Given the description of an element on the screen output the (x, y) to click on. 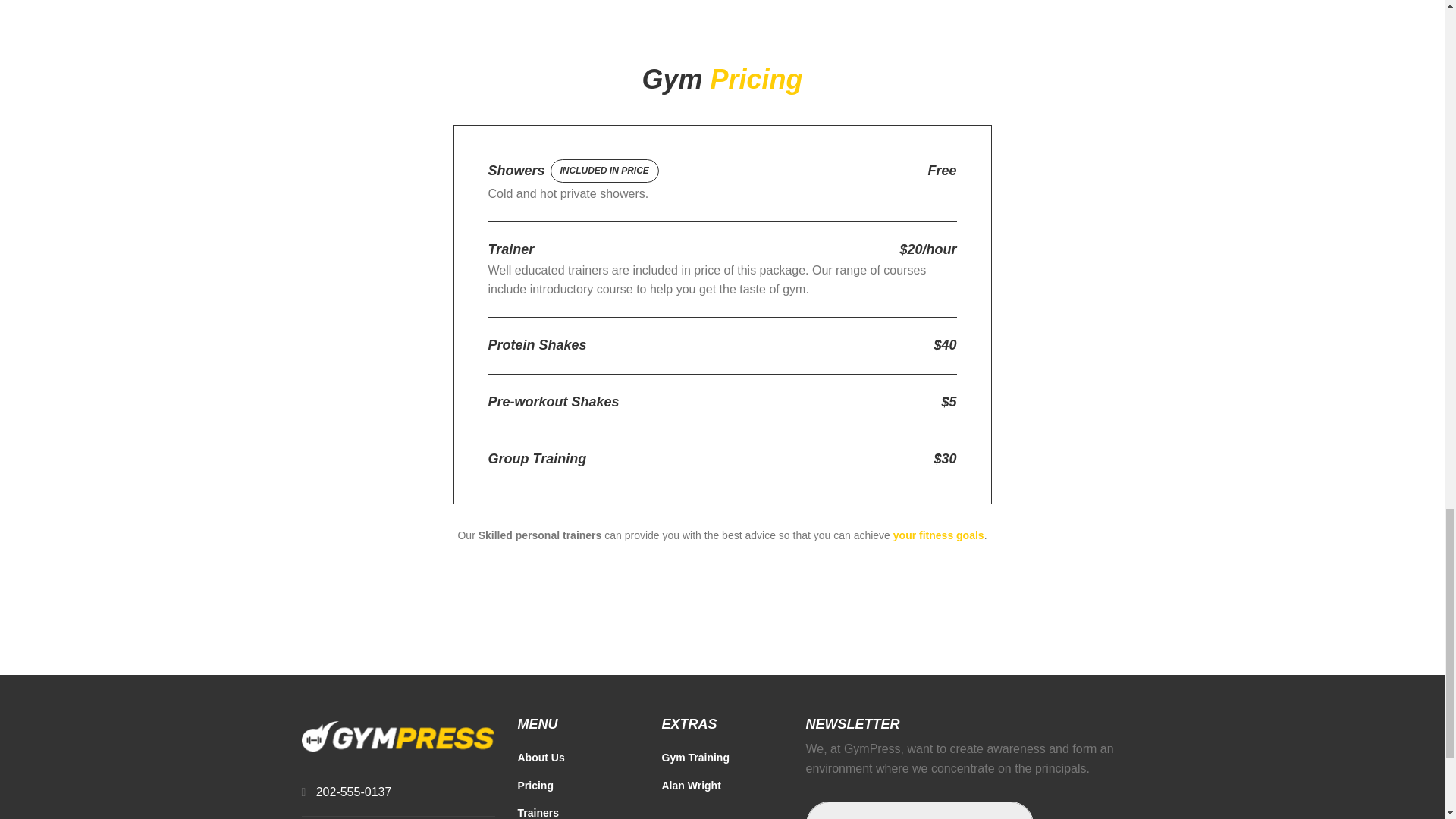
Alan Wright (722, 790)
Gym Training (722, 762)
About Us (577, 762)
Pricing (577, 790)
Trainers (577, 811)
your fitness goals (936, 535)
